Given the description of an element on the screen output the (x, y) to click on. 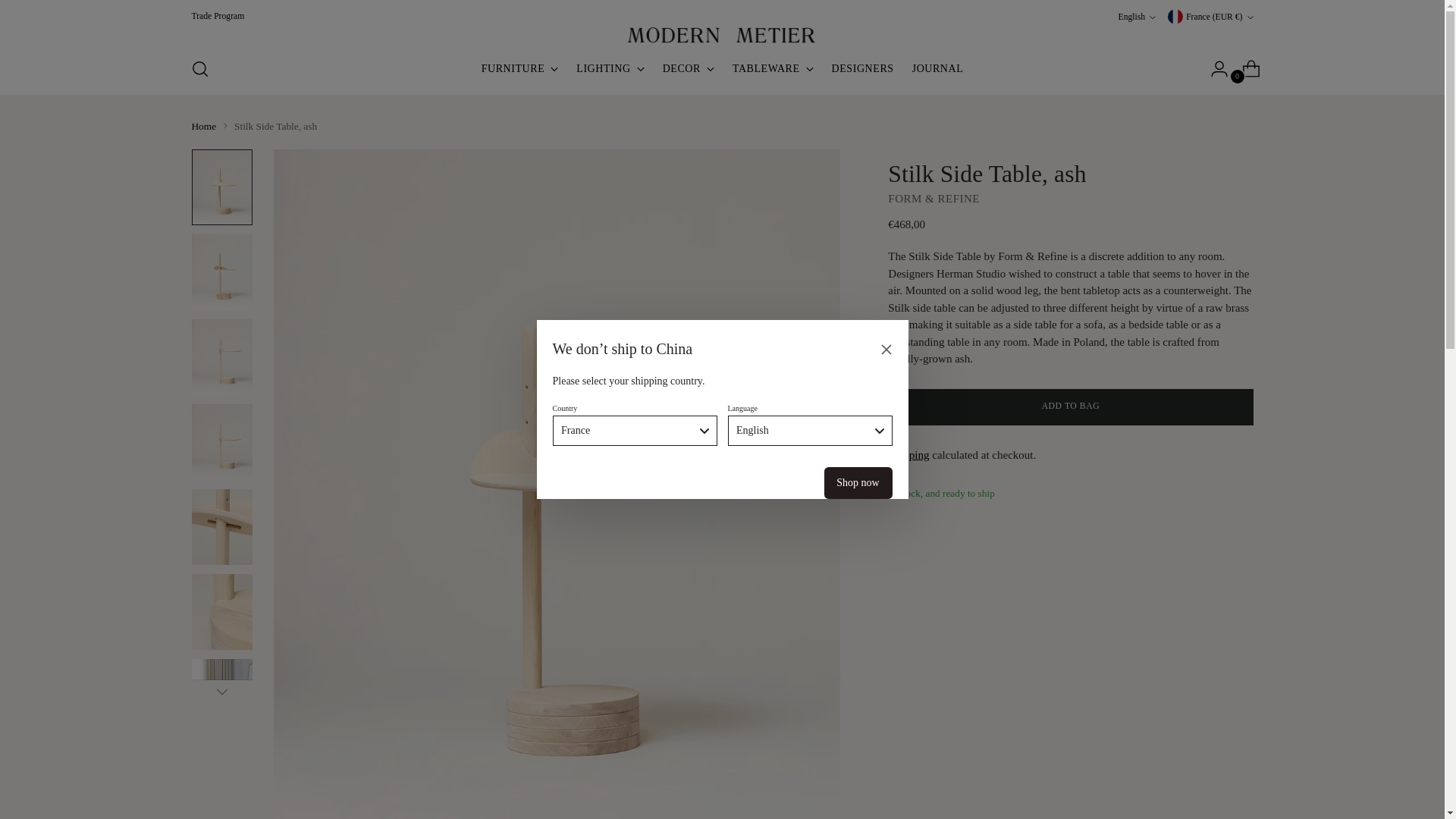
Trade Program (217, 16)
English (1137, 16)
Shop now (857, 482)
Down (220, 690)
France (721, 69)
English (633, 430)
